Given the description of an element on the screen output the (x, y) to click on. 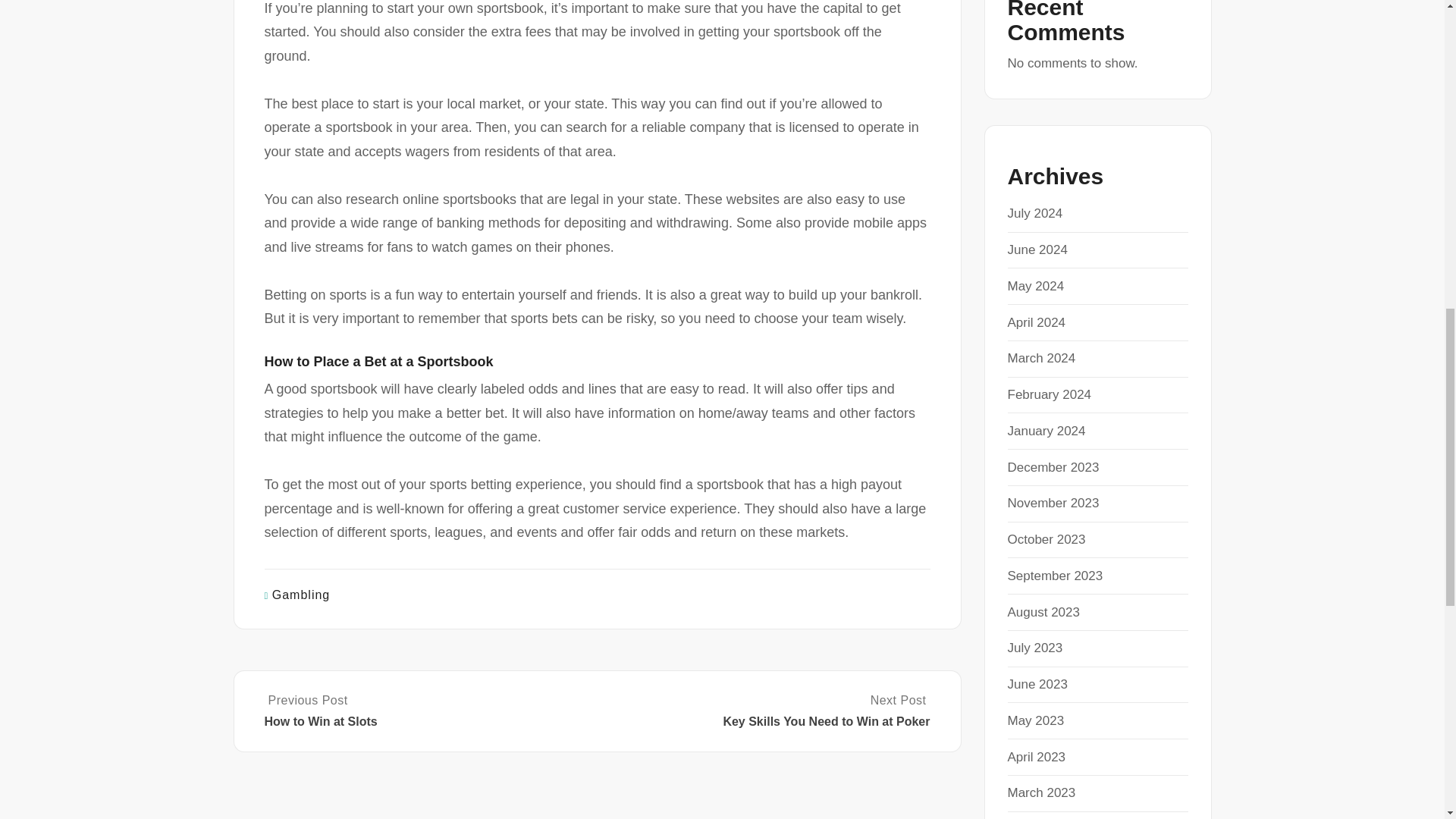
March 2024 (1041, 358)
May 2023 (1035, 720)
July 2024 (1034, 213)
June 2023 (1037, 684)
May 2024 (1035, 286)
November 2023 (1053, 503)
June 2024 (1037, 249)
Gambling (301, 594)
August 2023 (1042, 612)
December 2023 (1053, 467)
February 2024 (1048, 394)
April 2023 (1036, 757)
July 2023 (1034, 647)
October 2023 (1045, 539)
